Given the description of an element on the screen output the (x, y) to click on. 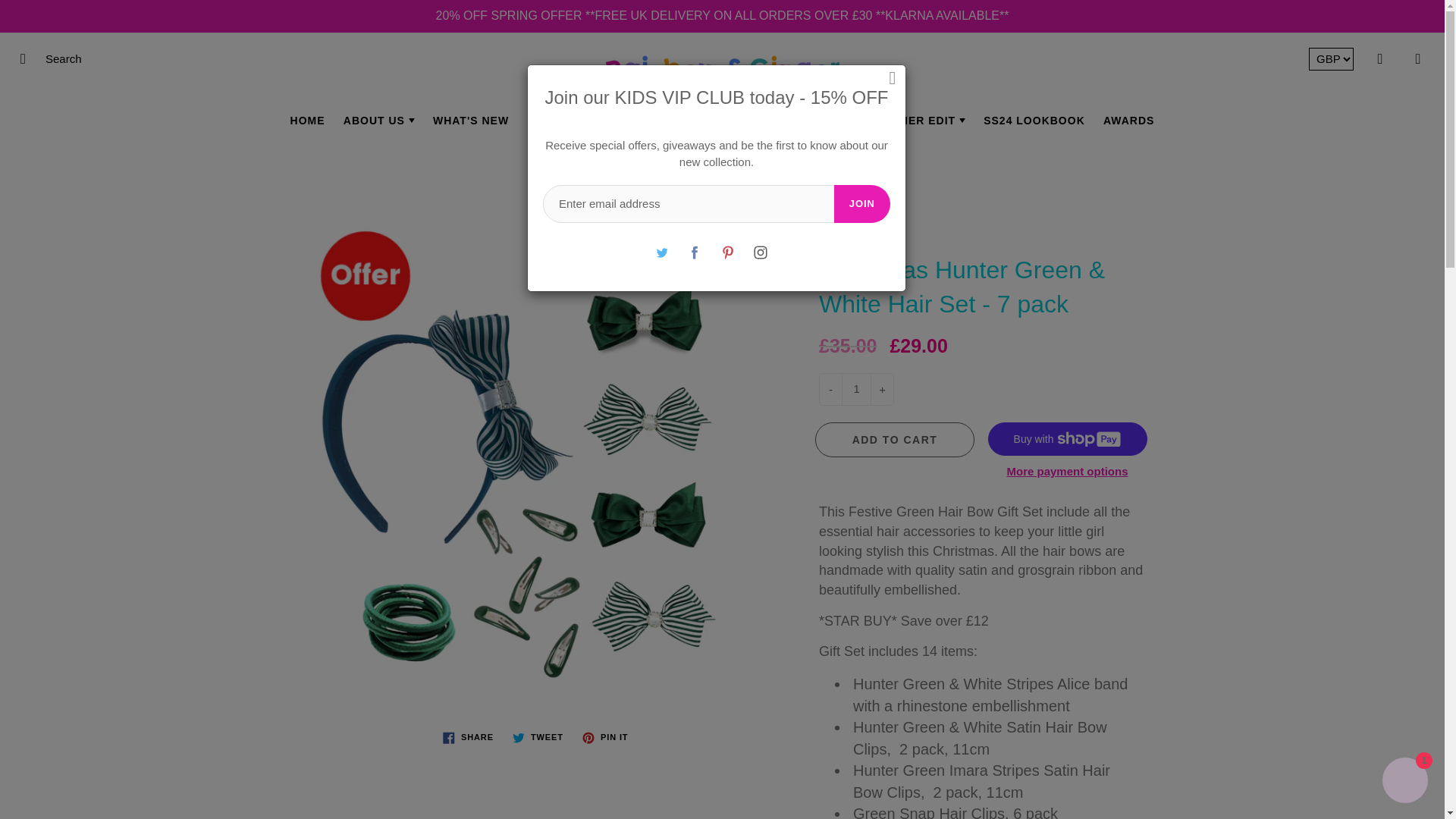
Pin on Pinterest (604, 737)
Pinterest (727, 252)
ABOUT US (379, 120)
BACK TO SCHOOL (795, 120)
HAIR BOWS (565, 120)
My account (1379, 58)
HOME (307, 120)
Search (28, 58)
You have 0 items in your cart (1417, 58)
Home (604, 183)
Twitter (662, 252)
Facebook (694, 252)
ACCESSORIES (670, 120)
Tweet on Twitter (537, 737)
Instagram (759, 252)
